Given the description of an element on the screen output the (x, y) to click on. 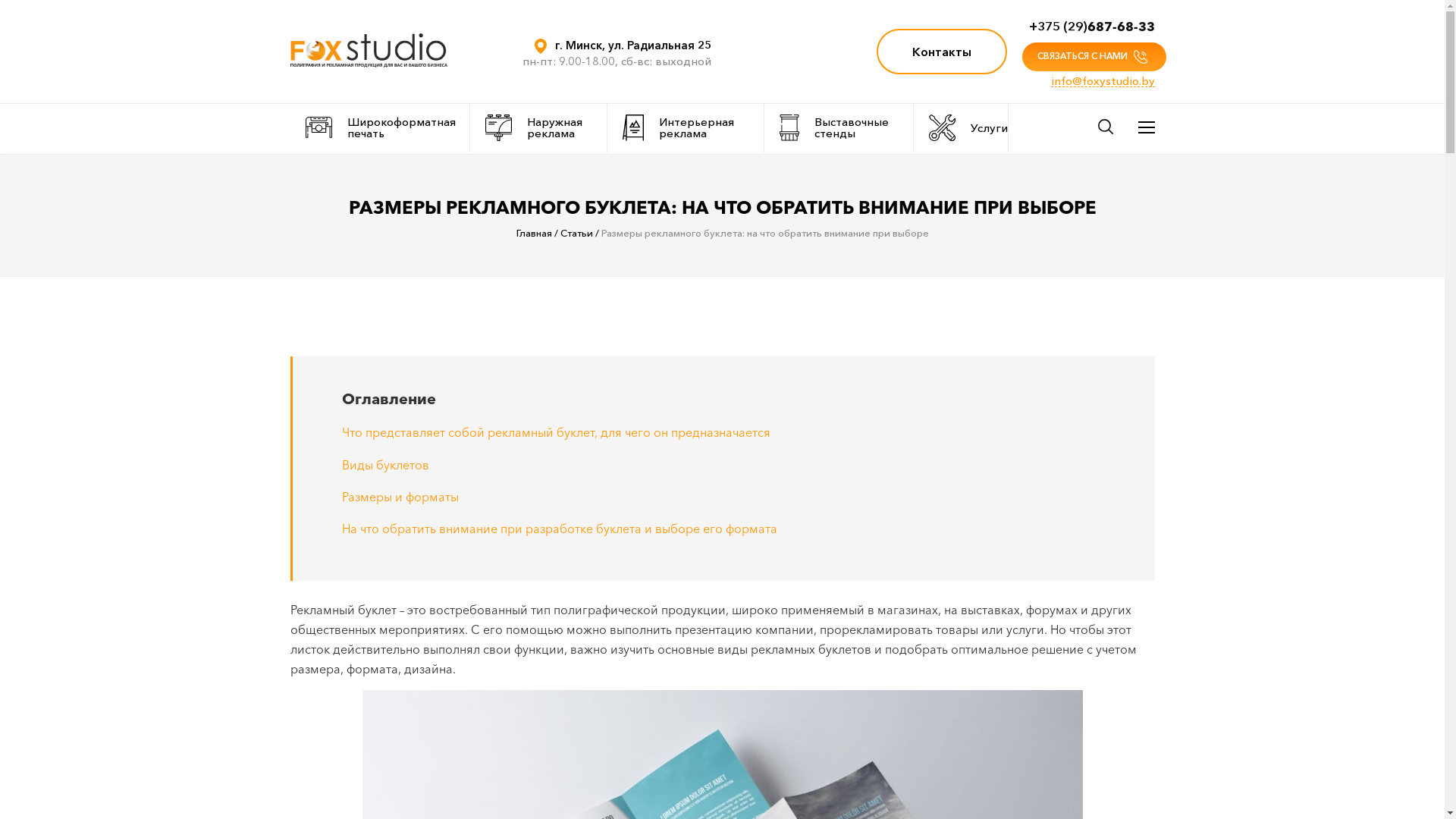
info@foxystudio.by Element type: text (1102, 81)
+375 (29)687-68-33 Element type: text (1091, 26)
